Given the description of an element on the screen output the (x, y) to click on. 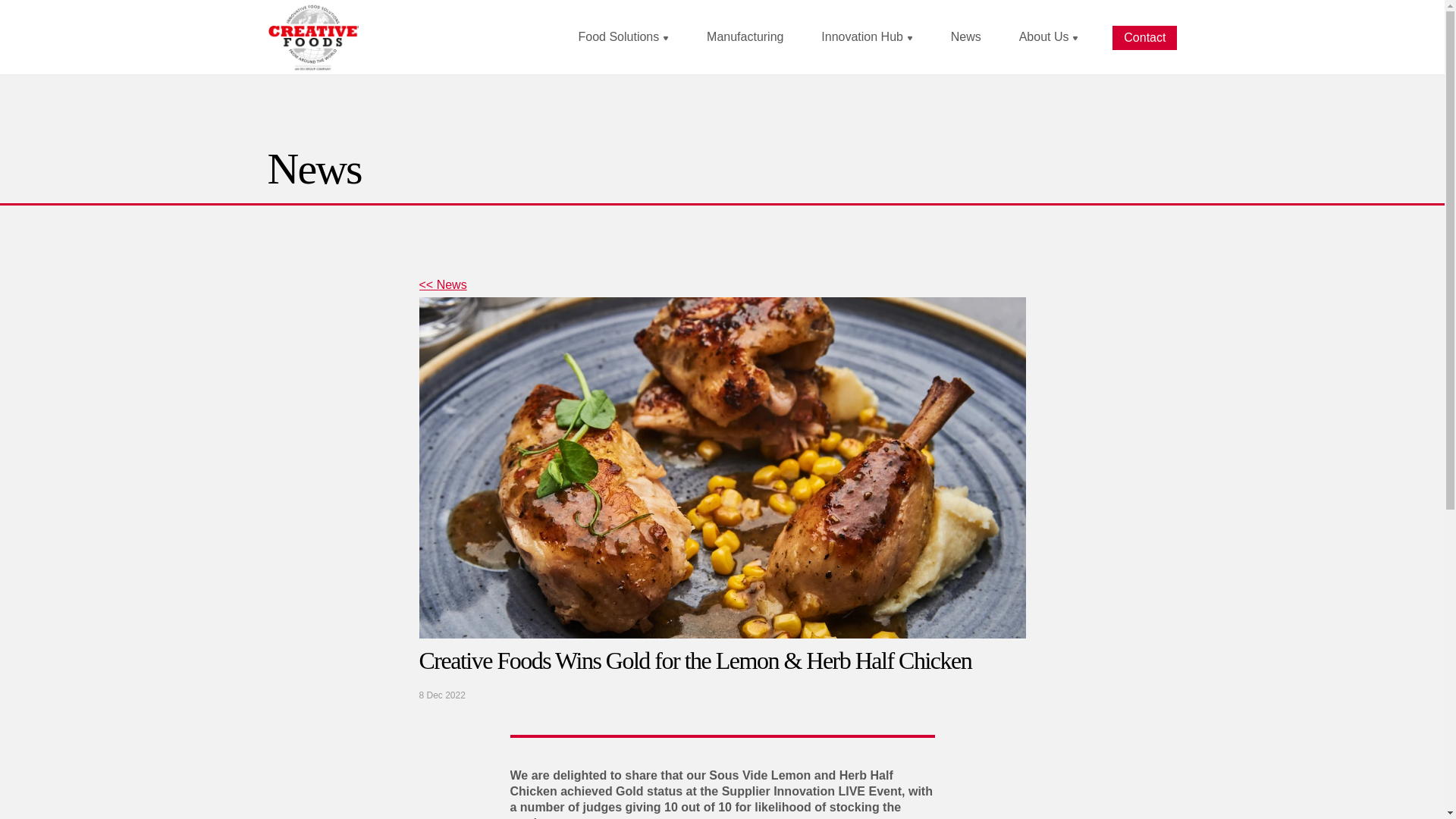
Contact (1144, 37)
Manufacturing (745, 36)
News (966, 36)
